Given the description of an element on the screen output the (x, y) to click on. 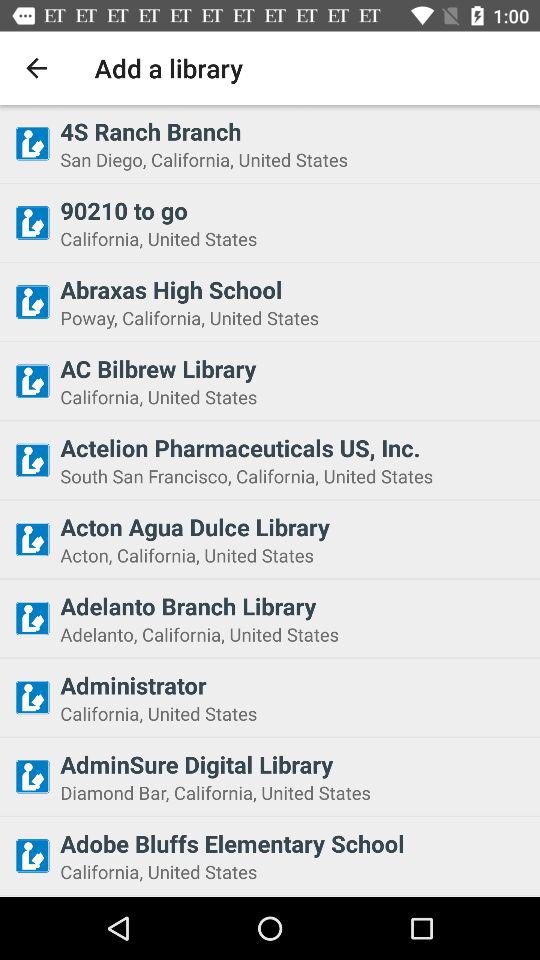
launch the item next to the add a library item (36, 68)
